Given the description of an element on the screen output the (x, y) to click on. 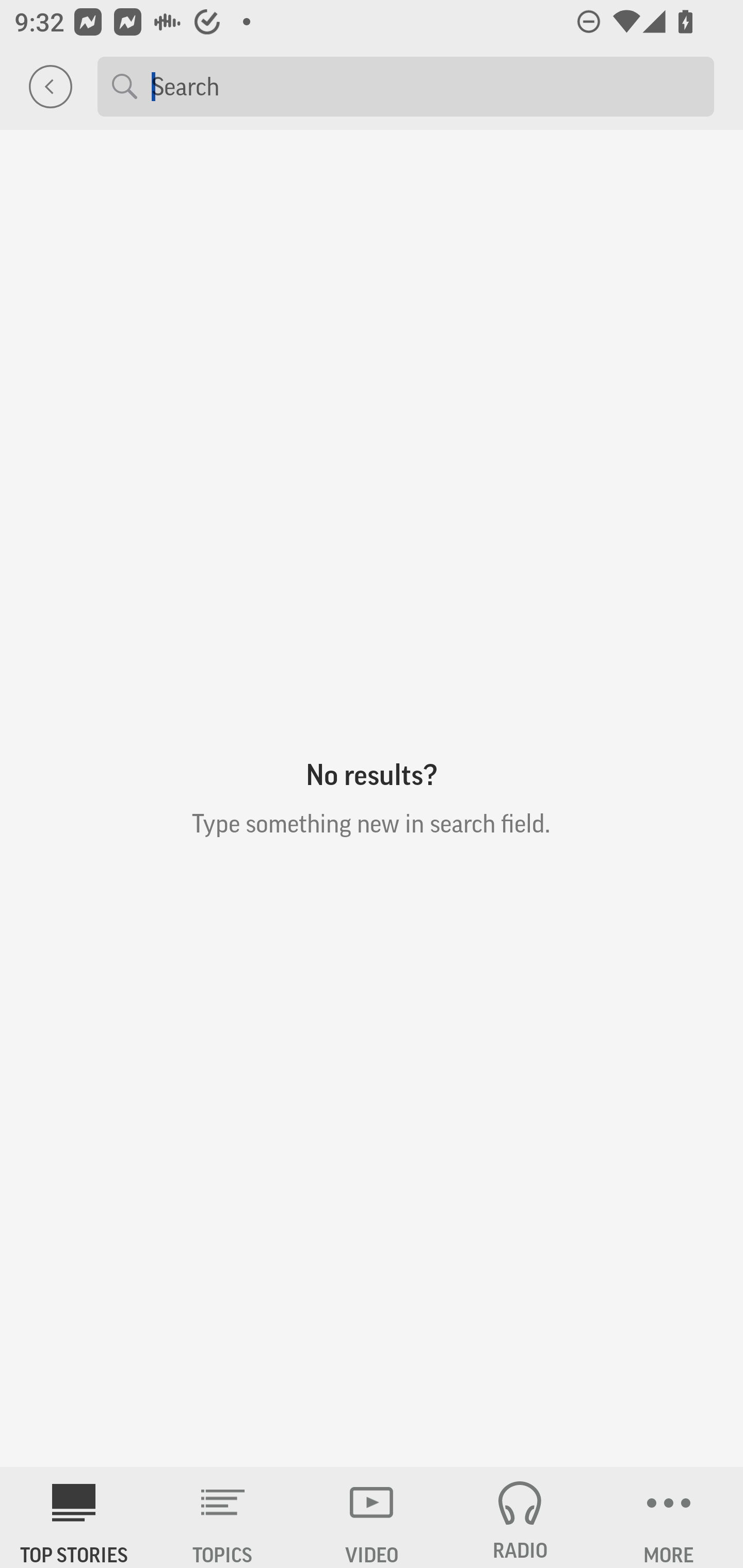
Search (425, 86)
AP News TOP STORIES (74, 1517)
TOPICS (222, 1517)
VIDEO (371, 1517)
RADIO (519, 1517)
MORE (668, 1517)
